Given the description of an element on the screen output the (x, y) to click on. 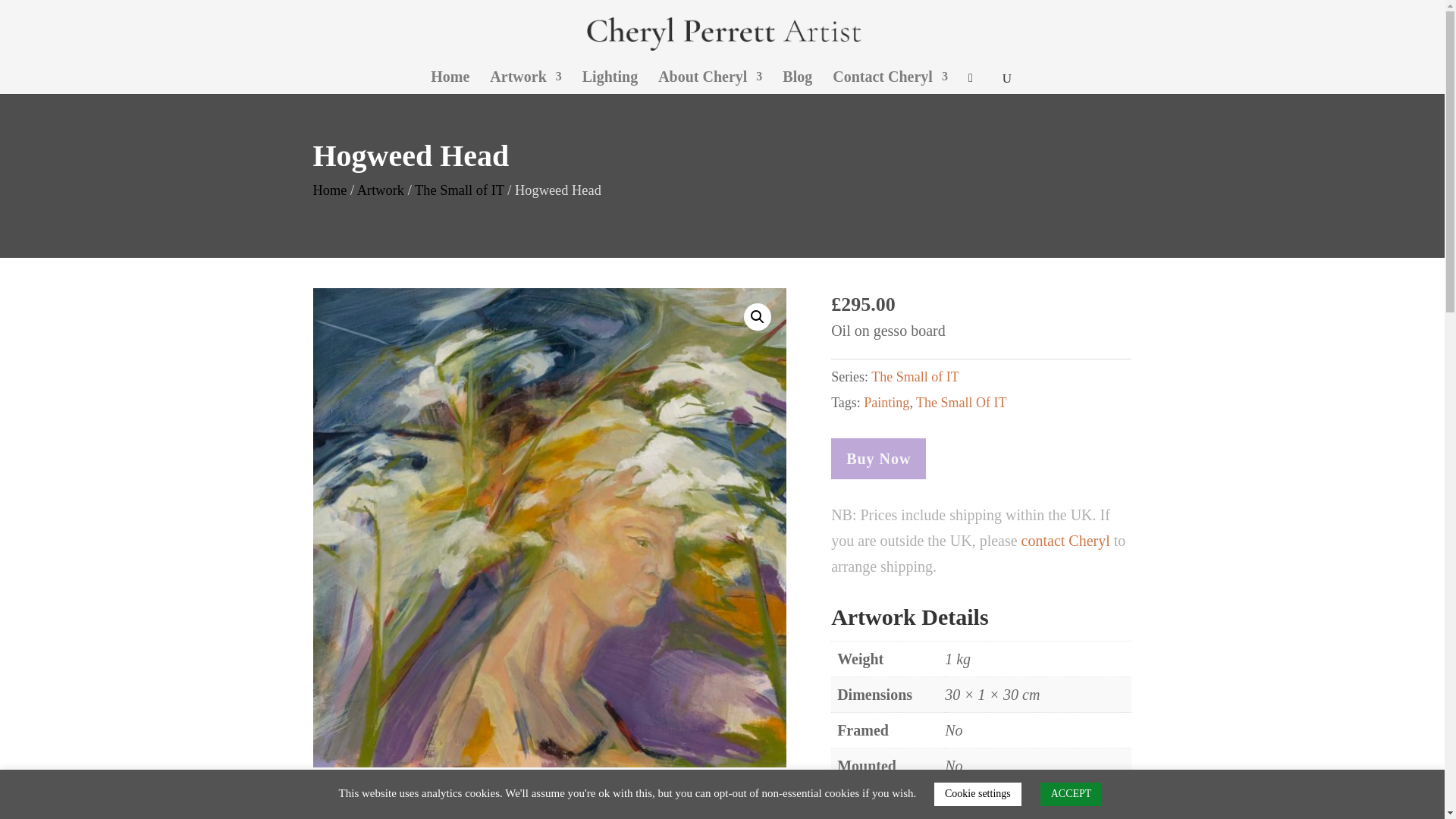
Blog (797, 82)
Artwork (524, 82)
Lighting (609, 82)
Contact Cheryl (889, 82)
Home (449, 82)
About Cheryl (709, 82)
